Given the description of an element on the screen output the (x, y) to click on. 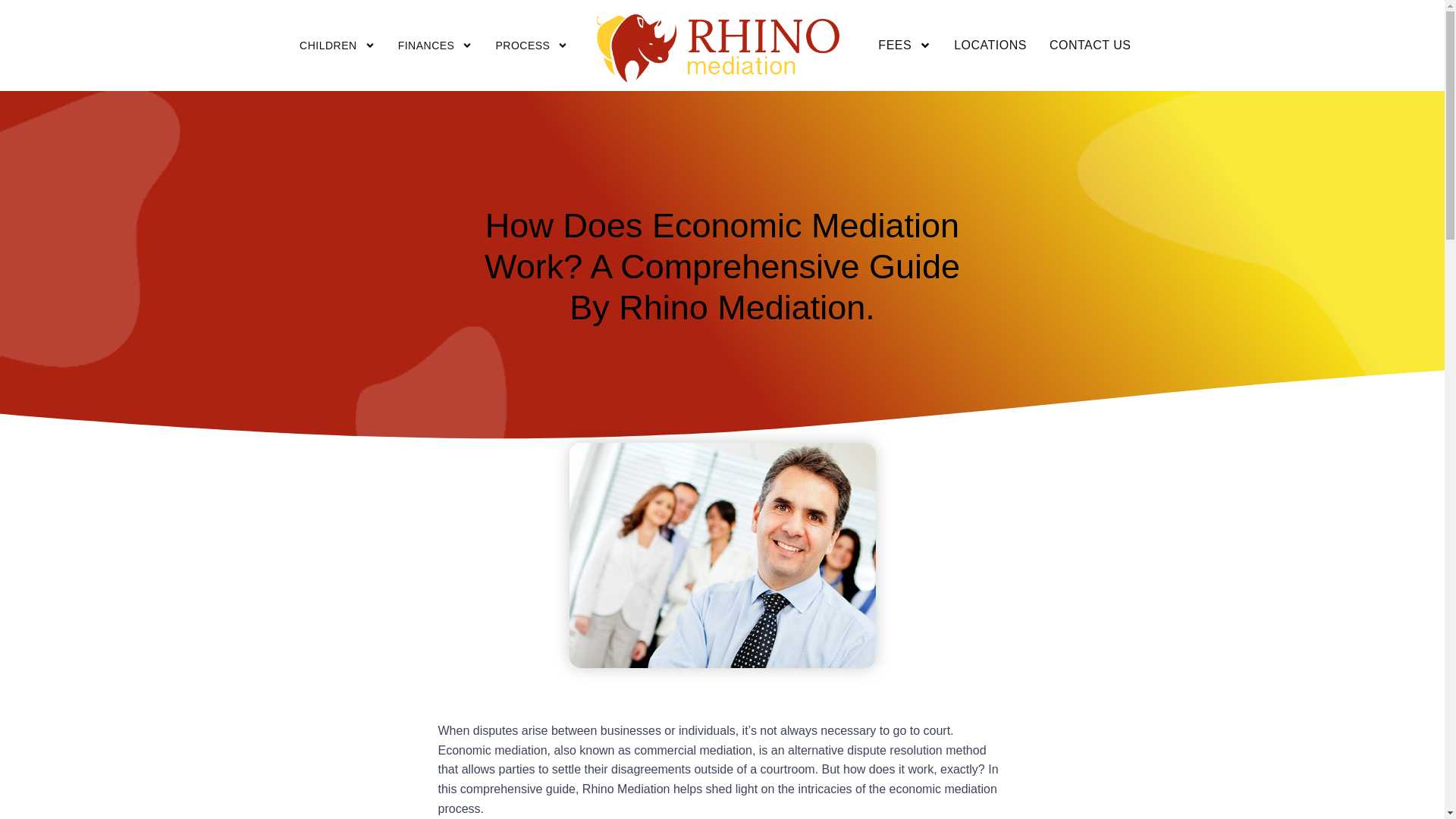
CHILDREN (337, 45)
PROCESS (531, 45)
FINANCES (435, 45)
